Given the description of an element on the screen output the (x, y) to click on. 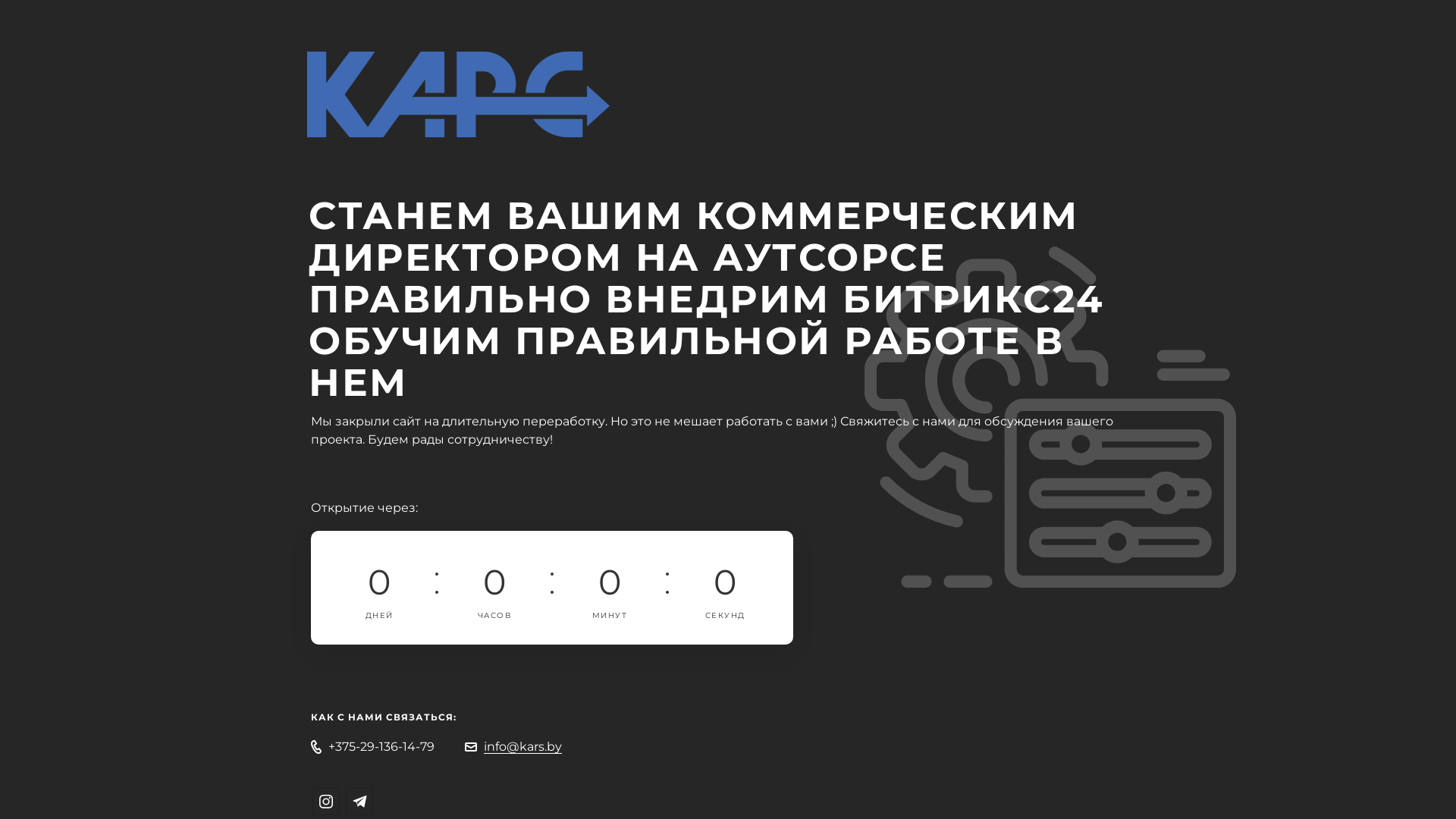
+375-29-136-14-79 Element type: text (381, 746)
info@kars.by Element type: text (522, 746)
